Given the description of an element on the screen output the (x, y) to click on. 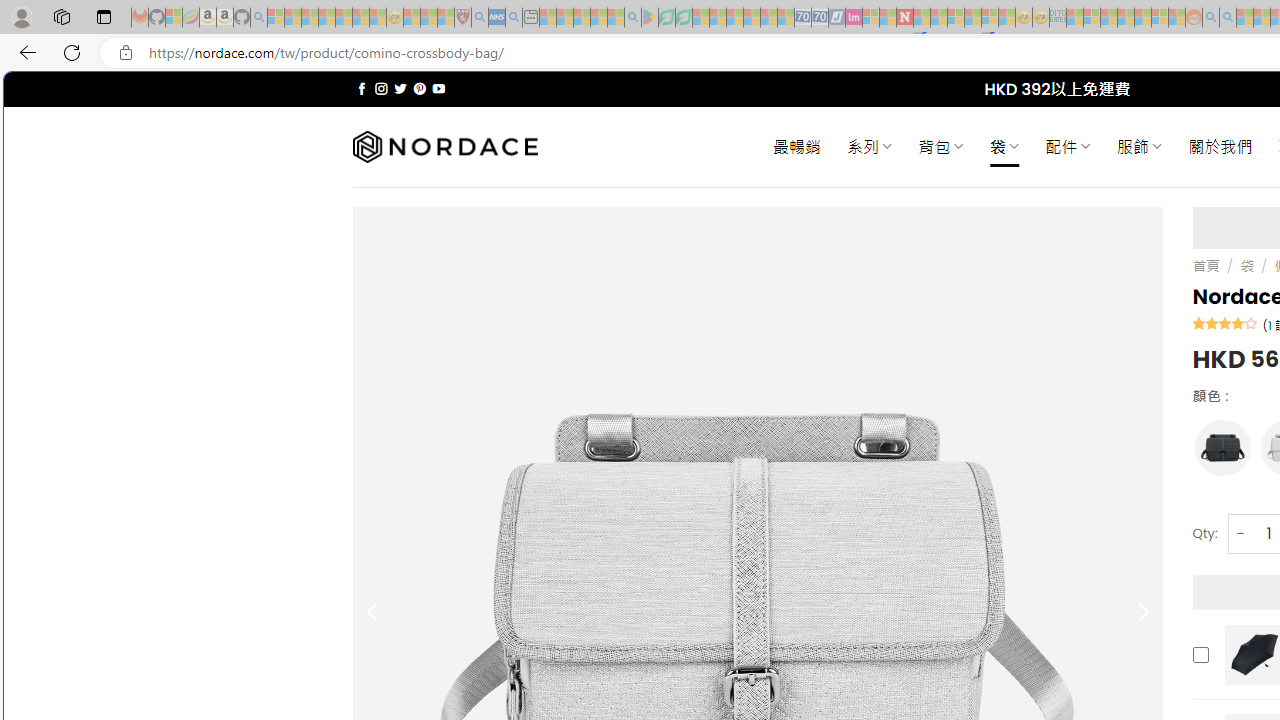
Follow on YouTube (438, 88)
Follow on Instagram (381, 88)
Add this product to cart (1200, 654)
